Given the description of an element on the screen output the (x, y) to click on. 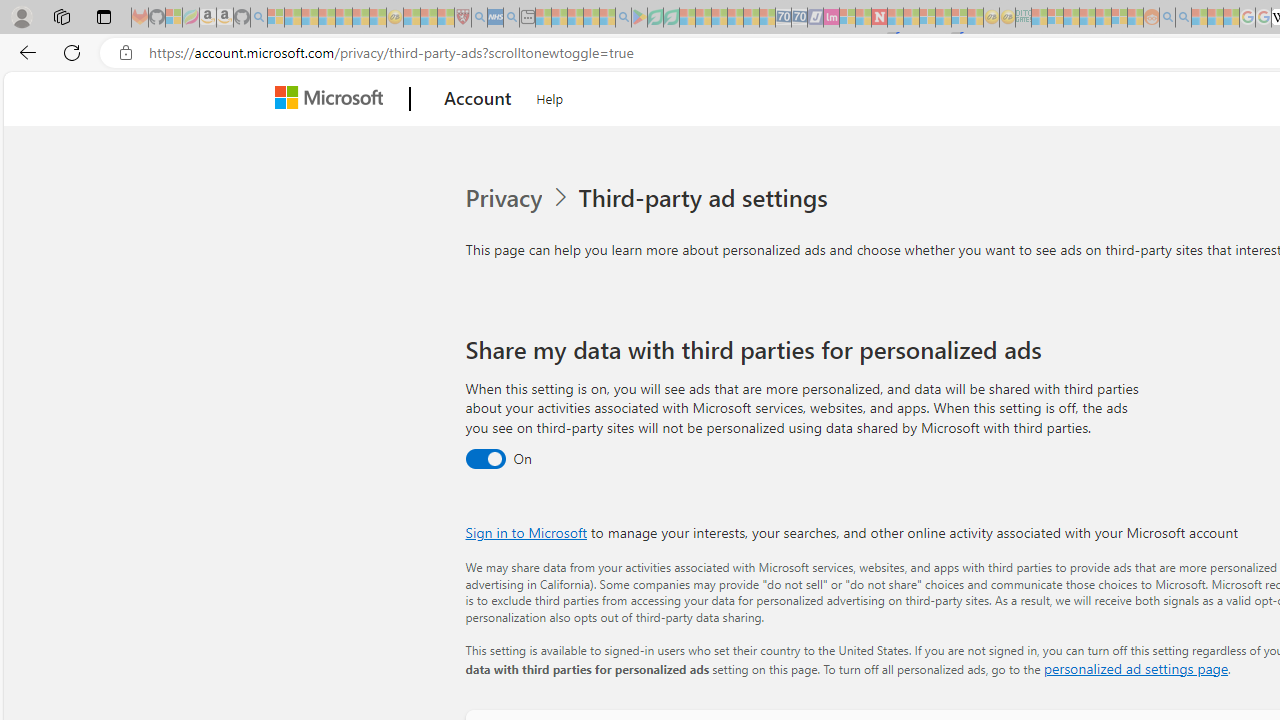
Utah sues federal government - Search - Sleeping (1183, 17)
Account (477, 99)
Kinda Frugal - MSN - Sleeping (1103, 17)
Help (550, 96)
